Given the description of an element on the screen output the (x, y) to click on. 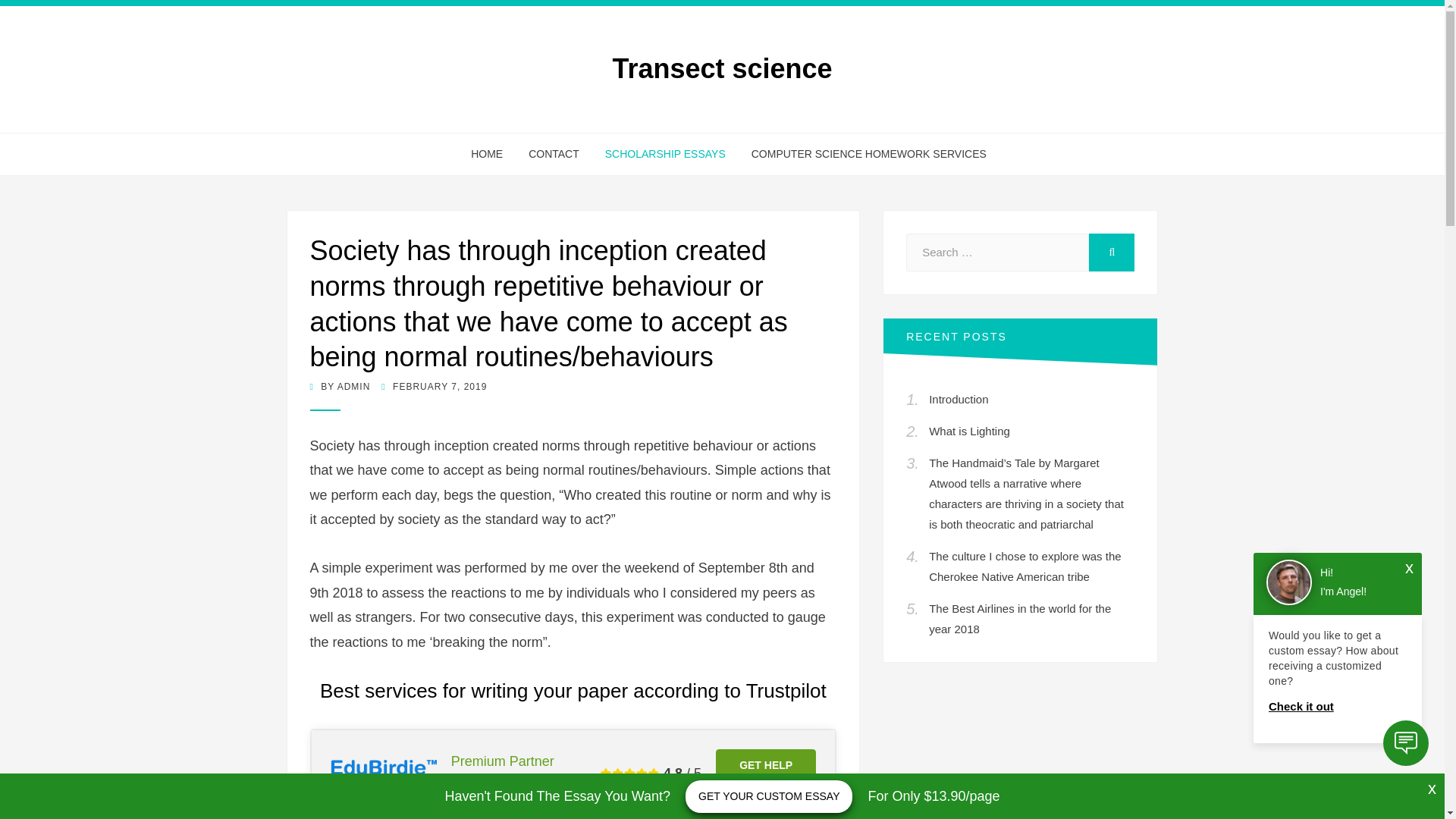
The Best Airlines in the world for the year 2018 (1019, 618)
SCHOLARSHIP ESSAYS (665, 153)
ADMIN (354, 386)
Transect science (721, 68)
HOME (486, 153)
CONTACT (553, 153)
FEBRUARY 7, 2019 (433, 386)
Transect science (721, 68)
GET HELP (765, 765)
